Given the description of an element on the screen output the (x, y) to click on. 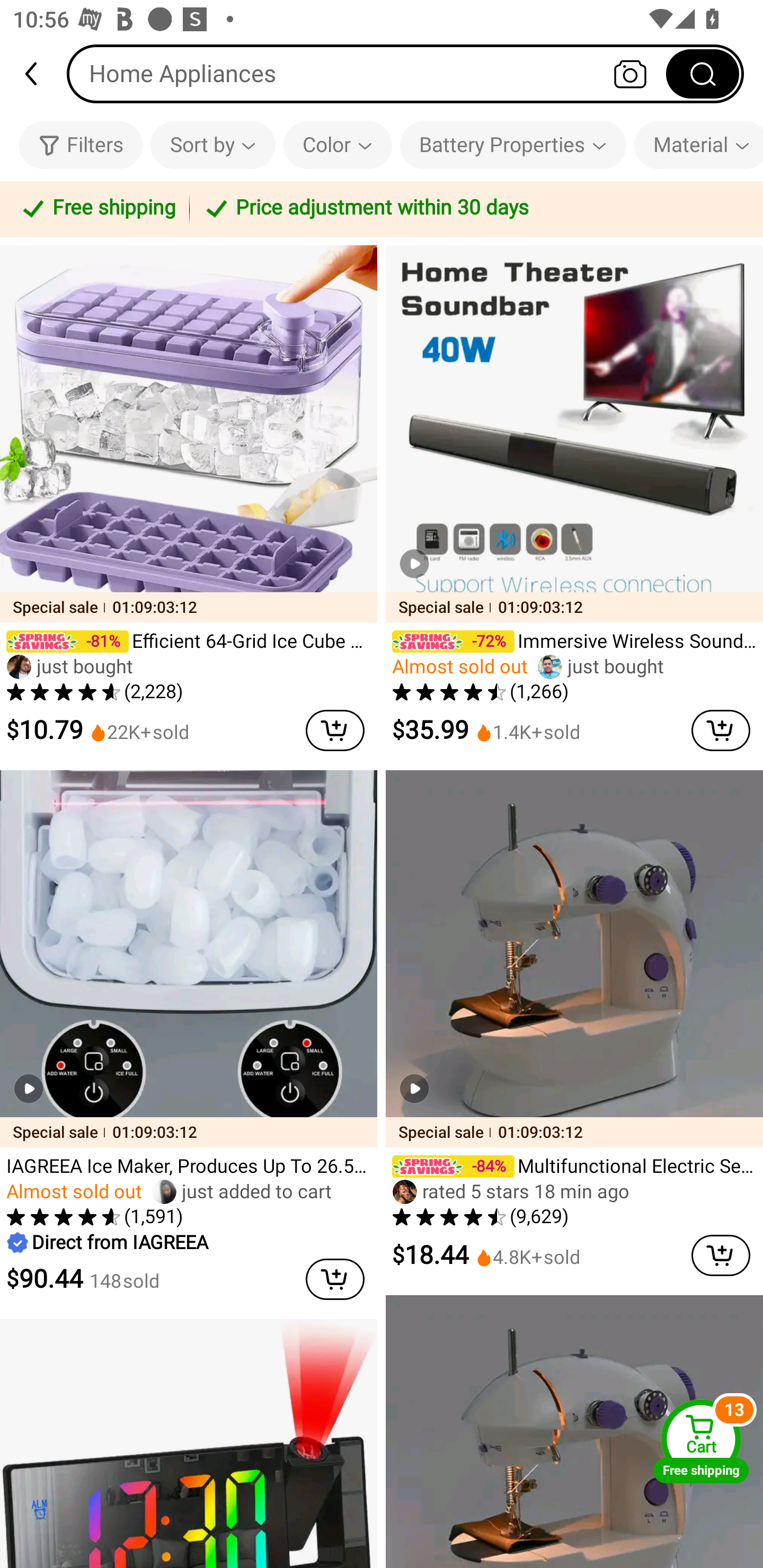
back (39, 73)
Home Appliances (405, 73)
Filters (80, 144)
Sort by (212, 144)
Color (337, 144)
Battery Properties (512, 144)
Material (698, 144)
Free shipping (97, 209)
Price adjustment within 30 days (472, 209)
cart delete (334, 730)
cart delete (720, 730)
cart delete (720, 1255)
cart delete (334, 1279)
Cart Free shipping Cart (701, 1440)
